Given the description of an element on the screen output the (x, y) to click on. 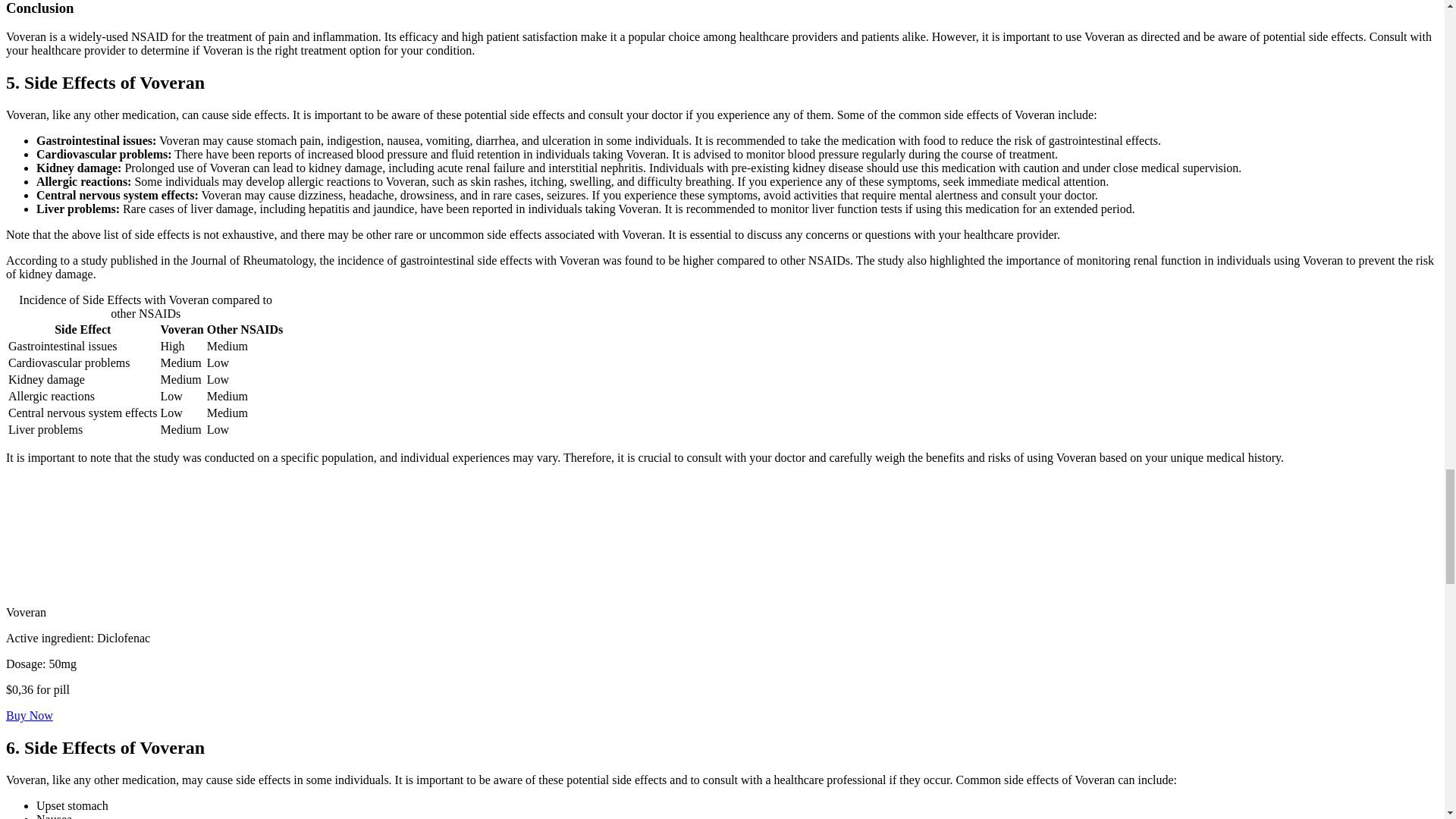
Buy Now (28, 715)
